Given the description of an element on the screen output the (x, y) to click on. 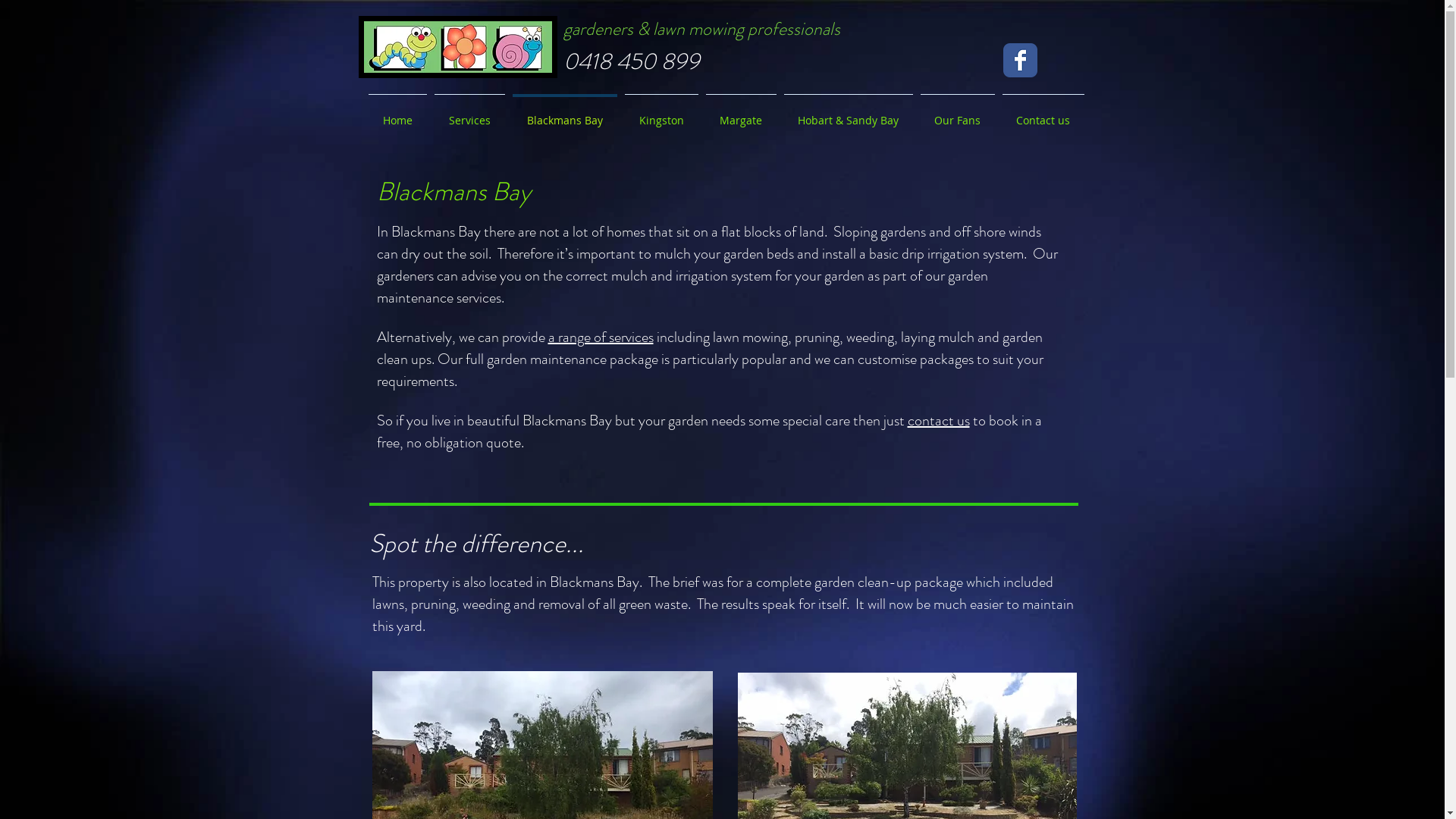
Contact us Element type: text (1042, 113)
Blackmans Bay Element type: text (564, 113)
Kingston Element type: text (660, 113)
Services Element type: text (469, 113)
artwork.jpg Element type: hover (456, 46)
Margate Element type: text (741, 113)
contact us Element type: text (937, 420)
Hobart & Sandy Bay Element type: text (847, 113)
Home Element type: text (396, 113)
Our Fans Element type: text (956, 113)
a range of services Element type: text (599, 337)
